Given the description of an element on the screen output the (x, y) to click on. 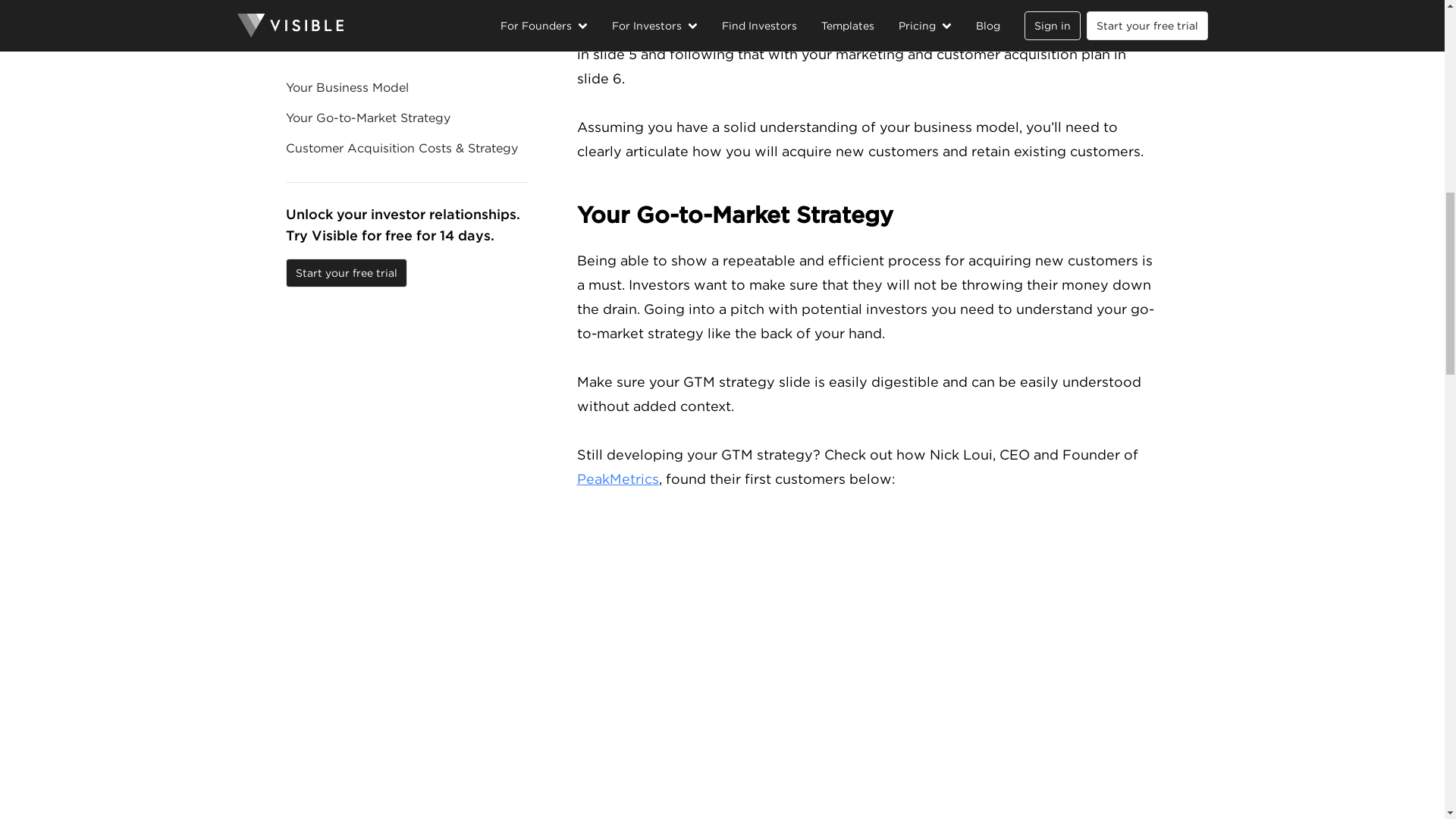
Guy Kawasaki pitch deck template (734, 29)
Your Go-to-Market Strategy (867, 214)
